Given the description of an element on the screen output the (x, y) to click on. 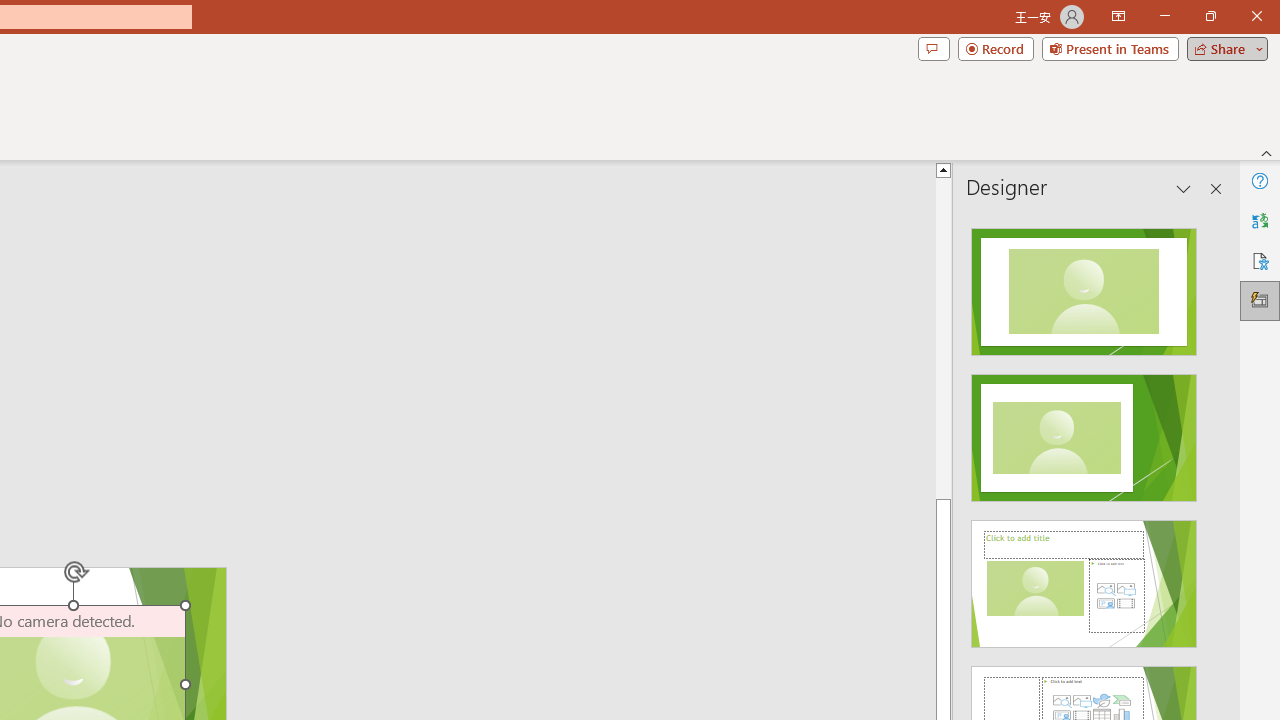
Recommended Design: Design Idea (1083, 286)
